Given the description of an element on the screen output the (x, y) to click on. 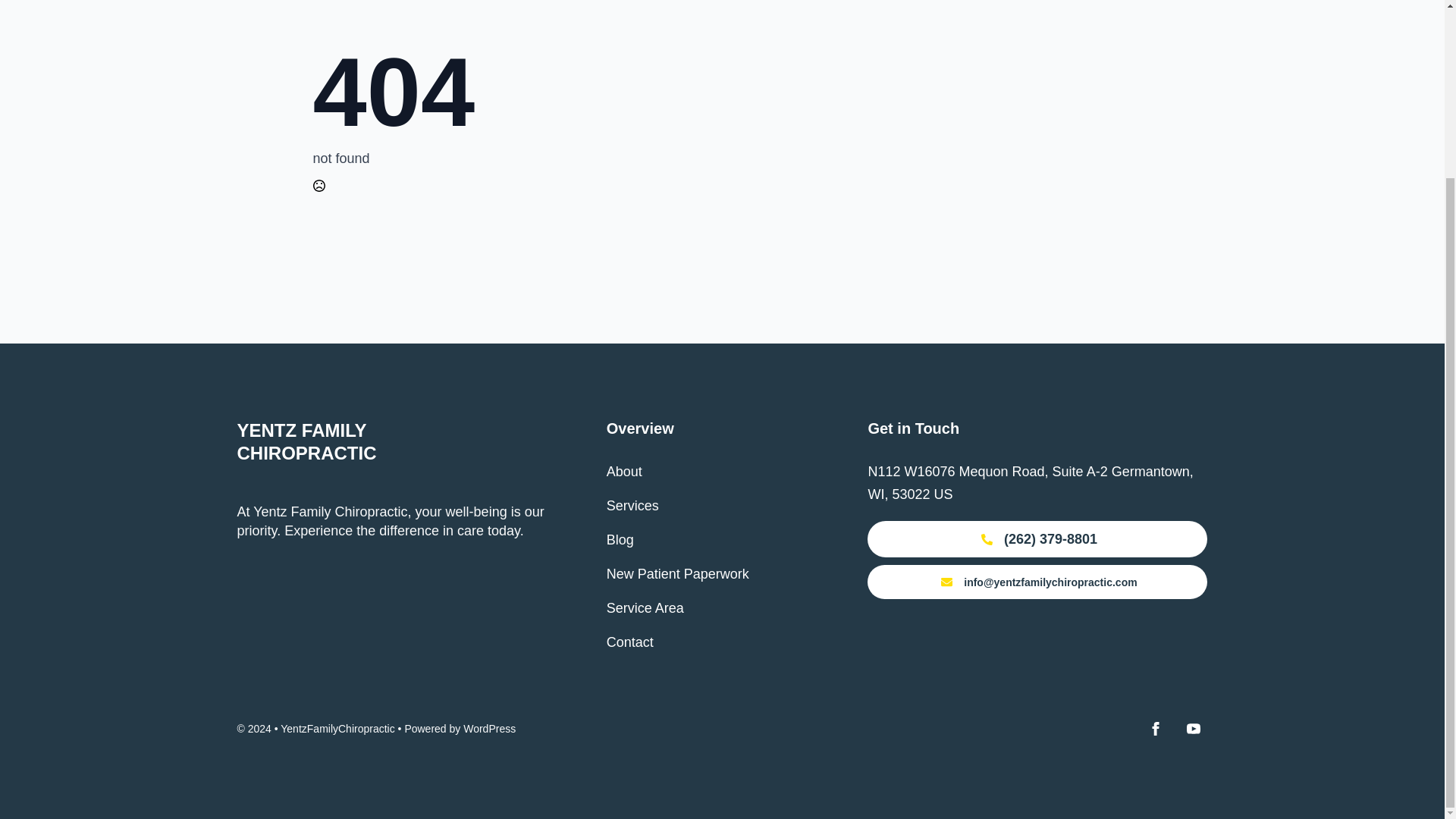
N112 W16076 Mequon Road, Suite A-2 Germantown, WI, 53022 US (1029, 483)
New Patient Paperwork (678, 573)
Contact (630, 642)
Services (633, 505)
About (624, 471)
Blog (620, 539)
Service Area (645, 607)
